Given the description of an element on the screen output the (x, y) to click on. 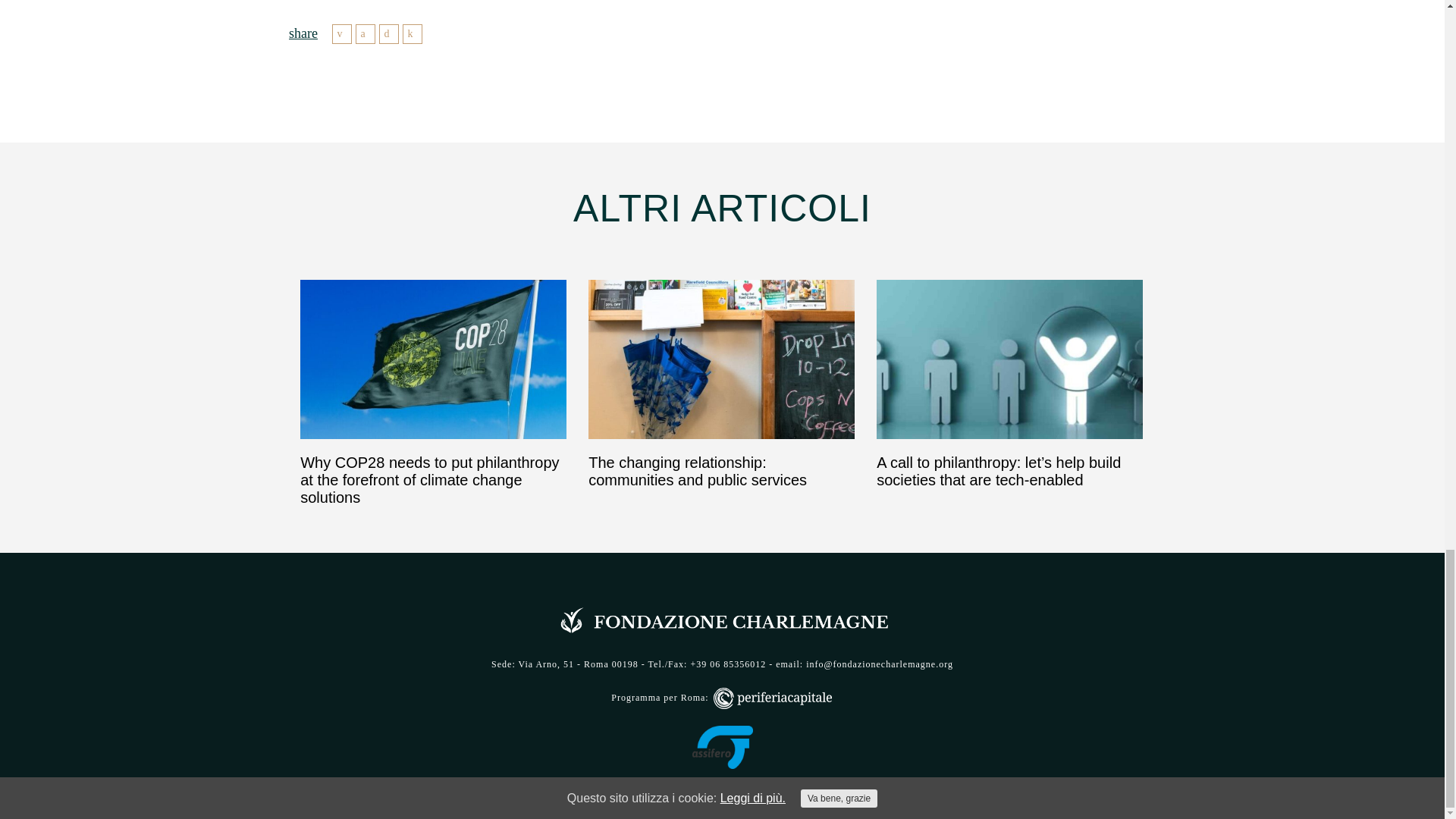
The changing relationship: communities and public services (721, 384)
Bilancio Sociale 2022 (722, 790)
